Given the description of an element on the screen output the (x, y) to click on. 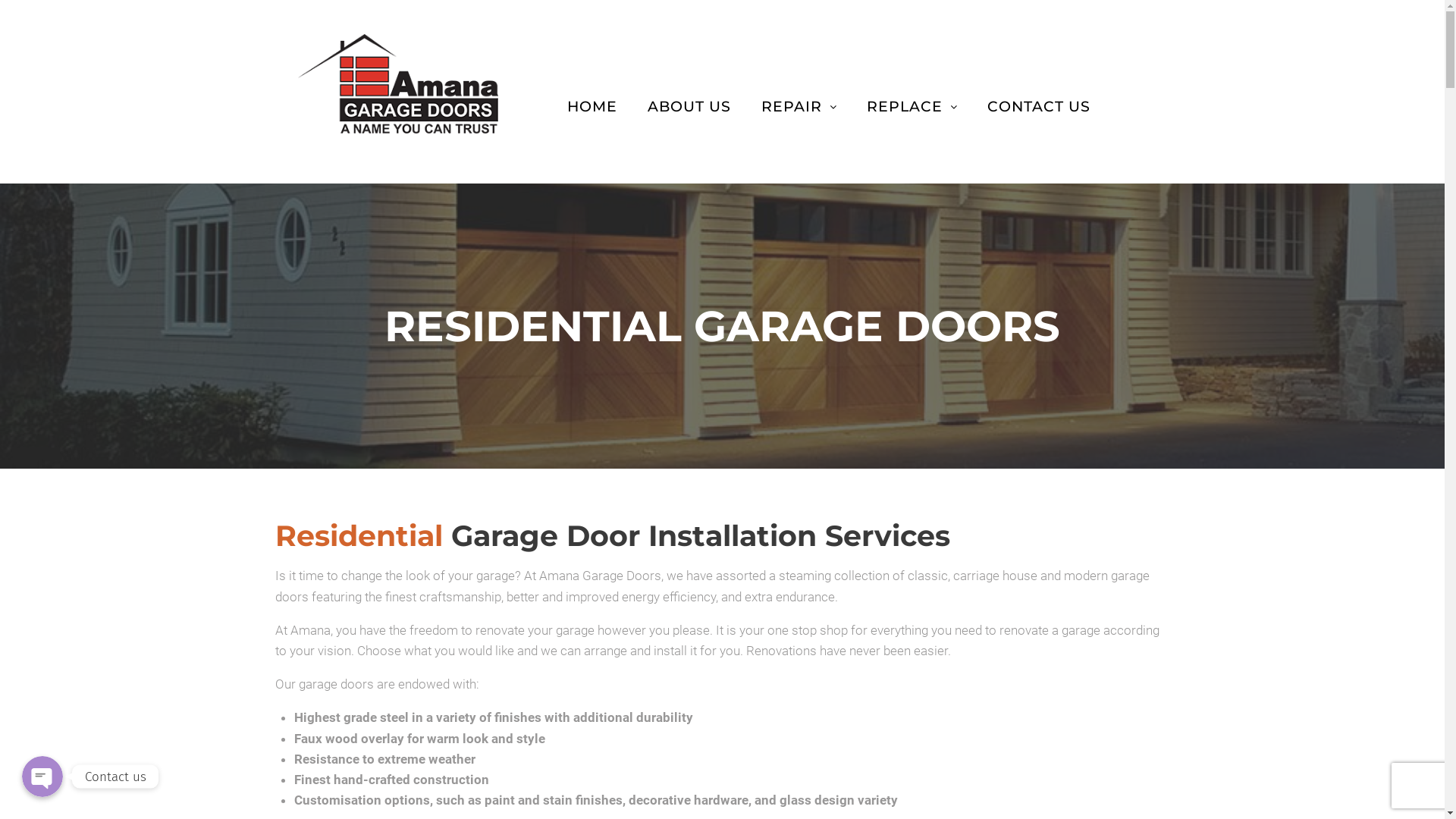
REPLACE Element type: text (911, 106)
CONTACT US Element type: text (1038, 106)
ABOUT US Element type: text (689, 106)
REPAIR Element type: text (798, 106)
HOME Element type: text (592, 106)
